Given the description of an element on the screen output the (x, y) to click on. 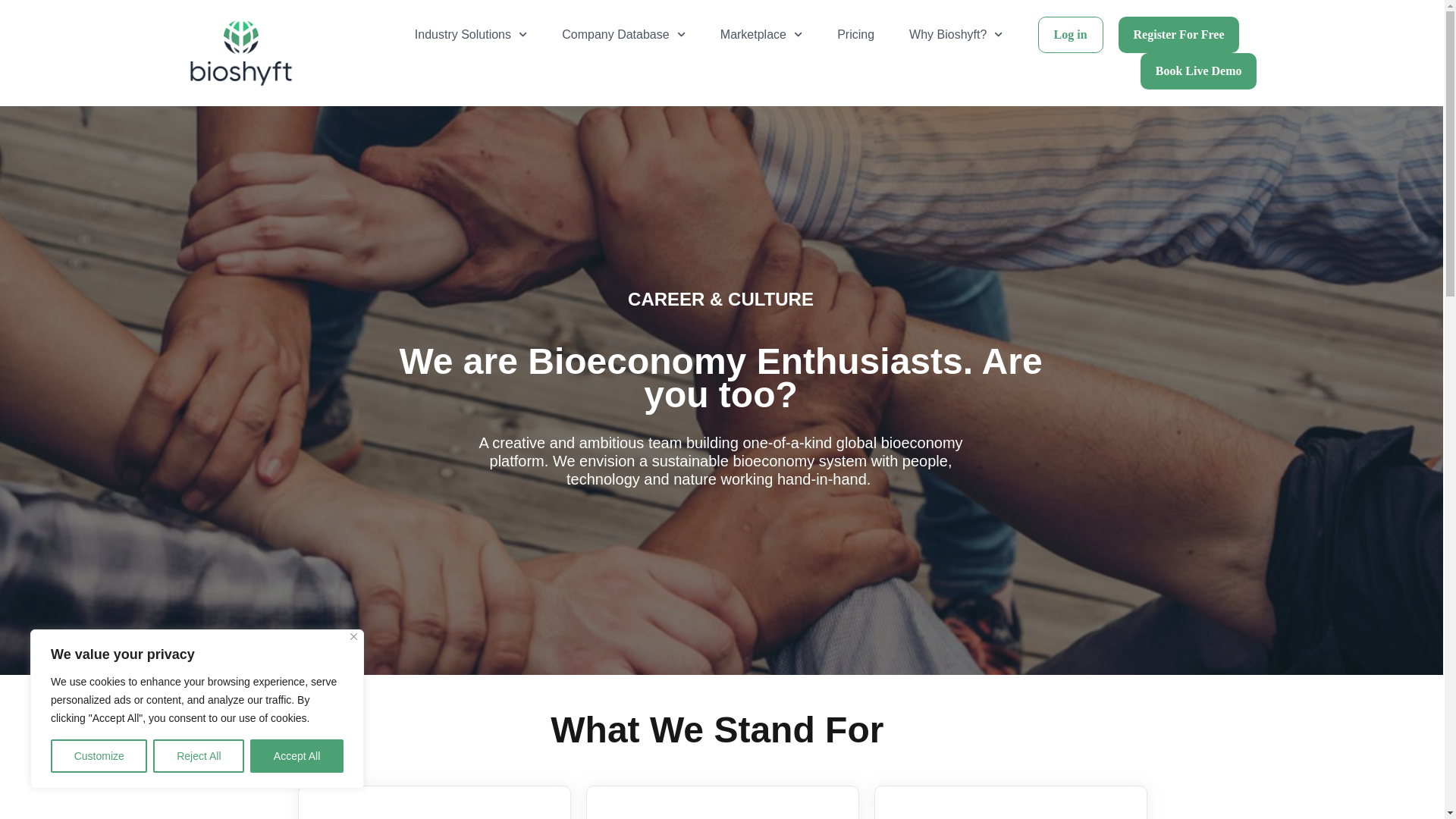
Reject All (198, 756)
Why Bioshyft? (955, 34)
Accept All (296, 756)
Customize (98, 756)
Company Database (623, 34)
Industry Solutions (470, 34)
Marketplace (761, 34)
Pricing (856, 34)
